Given the description of an element on the screen output the (x, y) to click on. 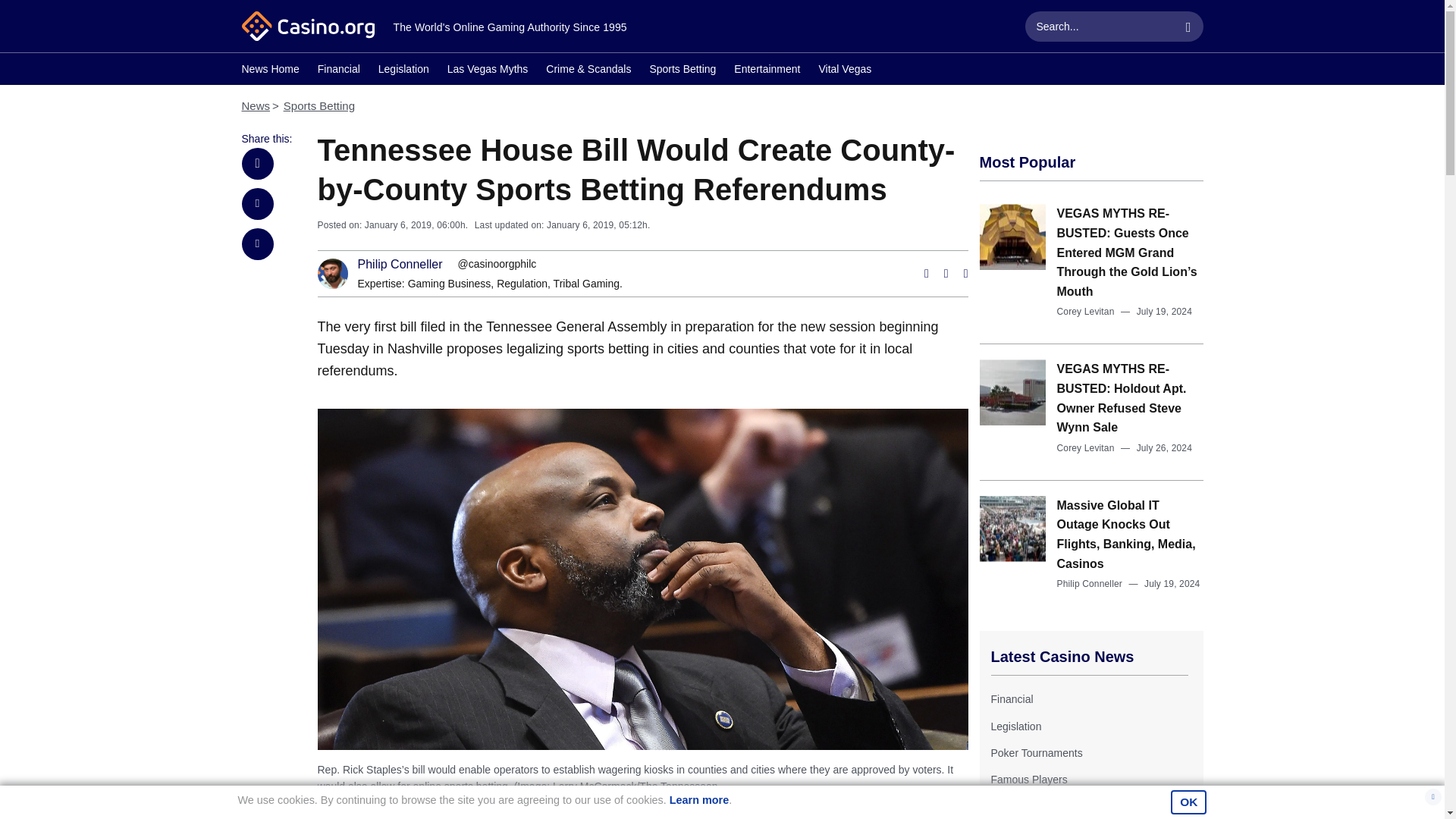
Corey Levitan (1086, 311)
Legislation (1015, 726)
Philip Conneller (400, 264)
Poker Tournaments (1035, 752)
Sports Betting (682, 70)
Corey Levitan (1086, 448)
Famous Players (1028, 779)
Las Vegas Myths (487, 70)
Legislation (403, 70)
Regulation (521, 283)
Sports Betting (319, 105)
Financial (338, 70)
Tribal Gaming (586, 283)
